Given the description of an element on the screen output the (x, y) to click on. 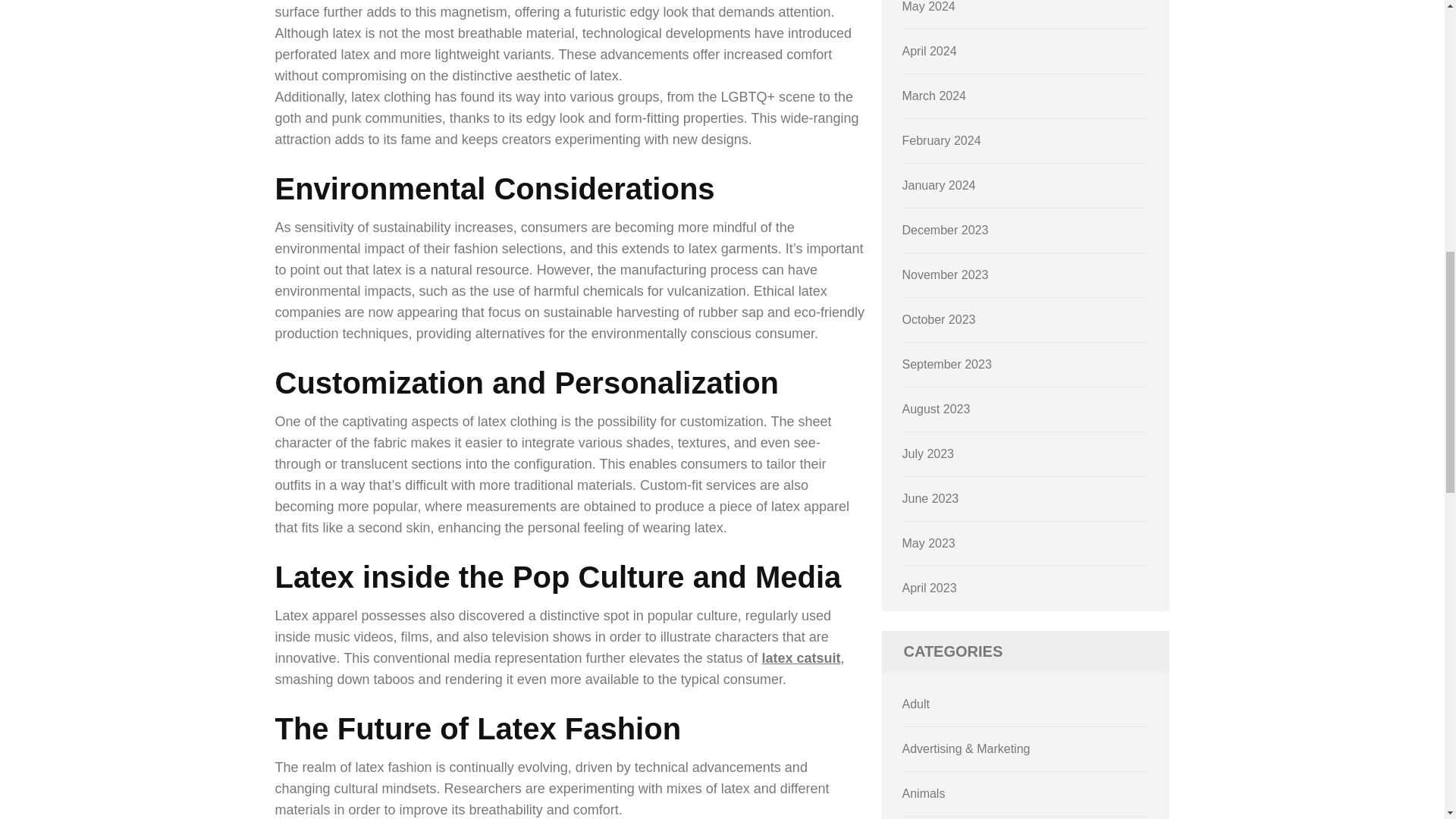
November 2023 (945, 274)
January 2024 (938, 185)
August 2023 (936, 408)
October 2023 (938, 318)
latex catsuit (801, 657)
June 2023 (930, 498)
April 2024 (929, 51)
September 2023 (946, 364)
April 2023 (929, 587)
May 2024 (928, 6)
